Given the description of an element on the screen output the (x, y) to click on. 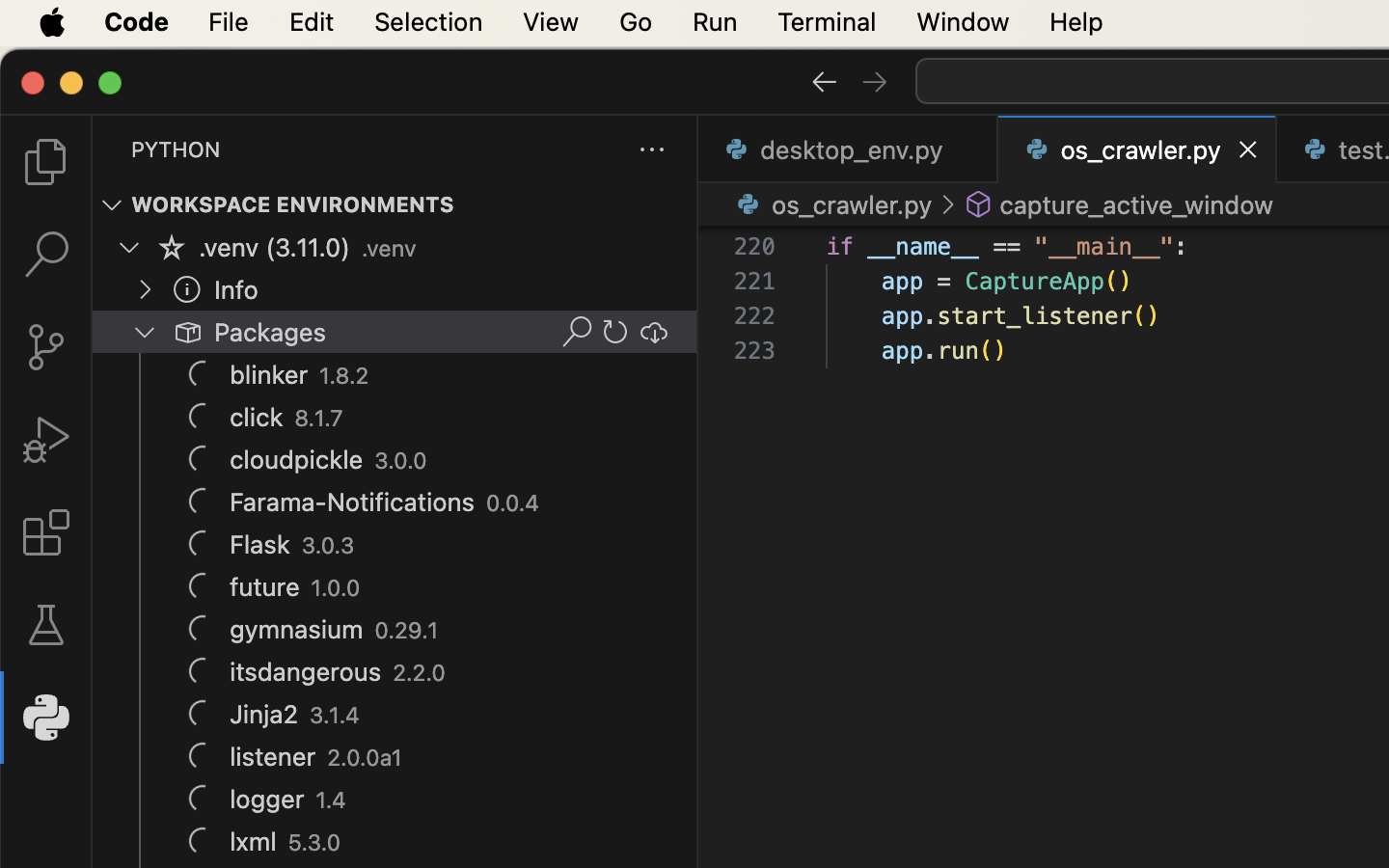
 Element type: AXStaticText (202, 373)
3.1.4 Element type: AXStaticText (334, 715)
3.0.0 Element type: AXStaticText (401, 460)
.venv (3.11.0) Element type: AXStaticText (274, 247)
 Element type: AXStaticText (186, 288)
